Given the description of an element on the screen output the (x, y) to click on. 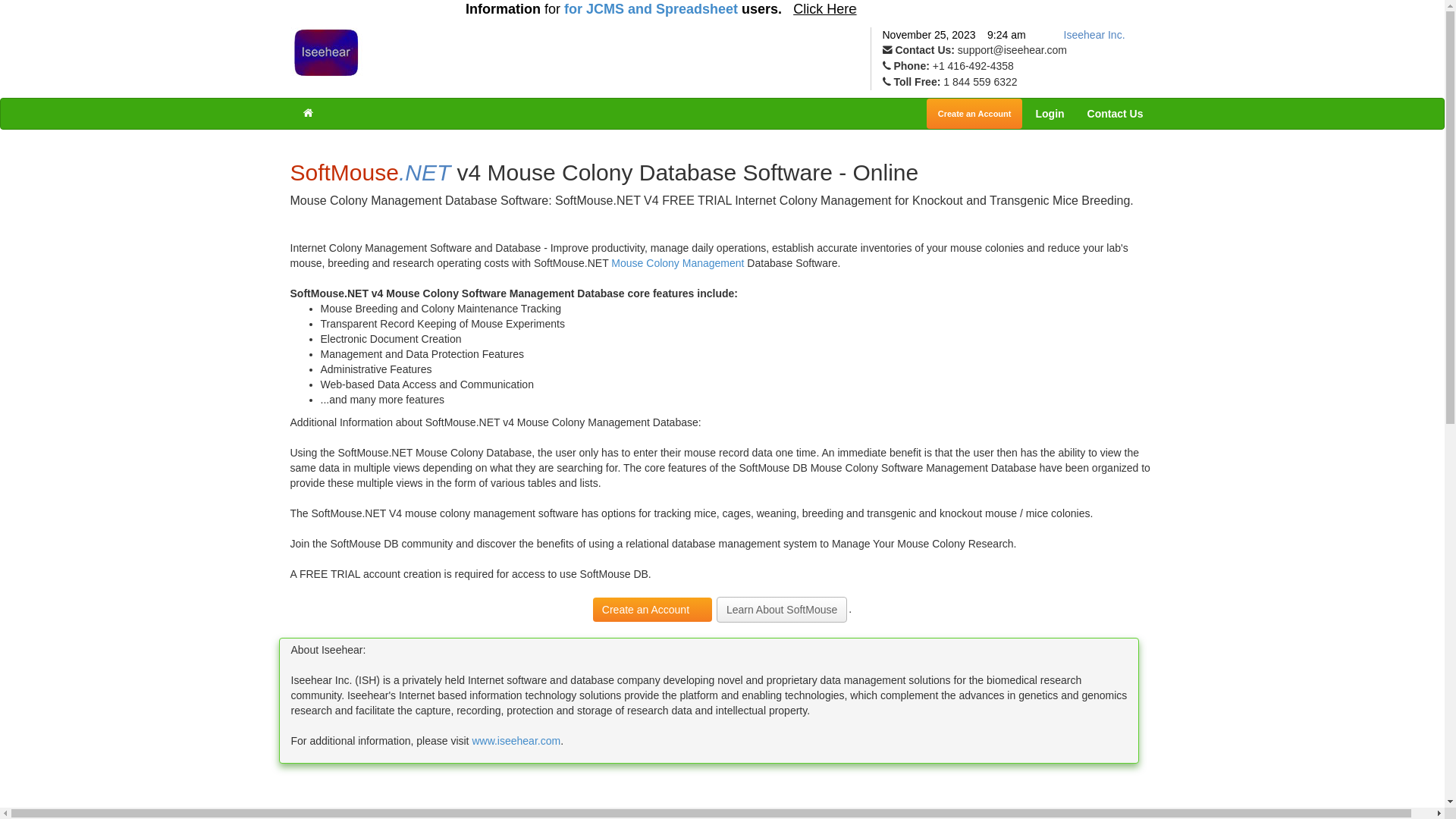
Login Element type: text (1049, 113)
Learn About SoftMouse Element type: text (781, 609)
Iseehear Inc. Element type: text (1094, 34)
Contact Us Element type: text (1115, 113)
Mouse Colony Management Element type: text (677, 263)
www.iseehear.com Element type: text (515, 740)
Information for for JCMS and Spreadsheet users.   Click Here Element type: text (686, 8)
Create an Account Element type: text (974, 113)
Create an Account Element type: text (652, 609)
